Given the description of an element on the screen output the (x, y) to click on. 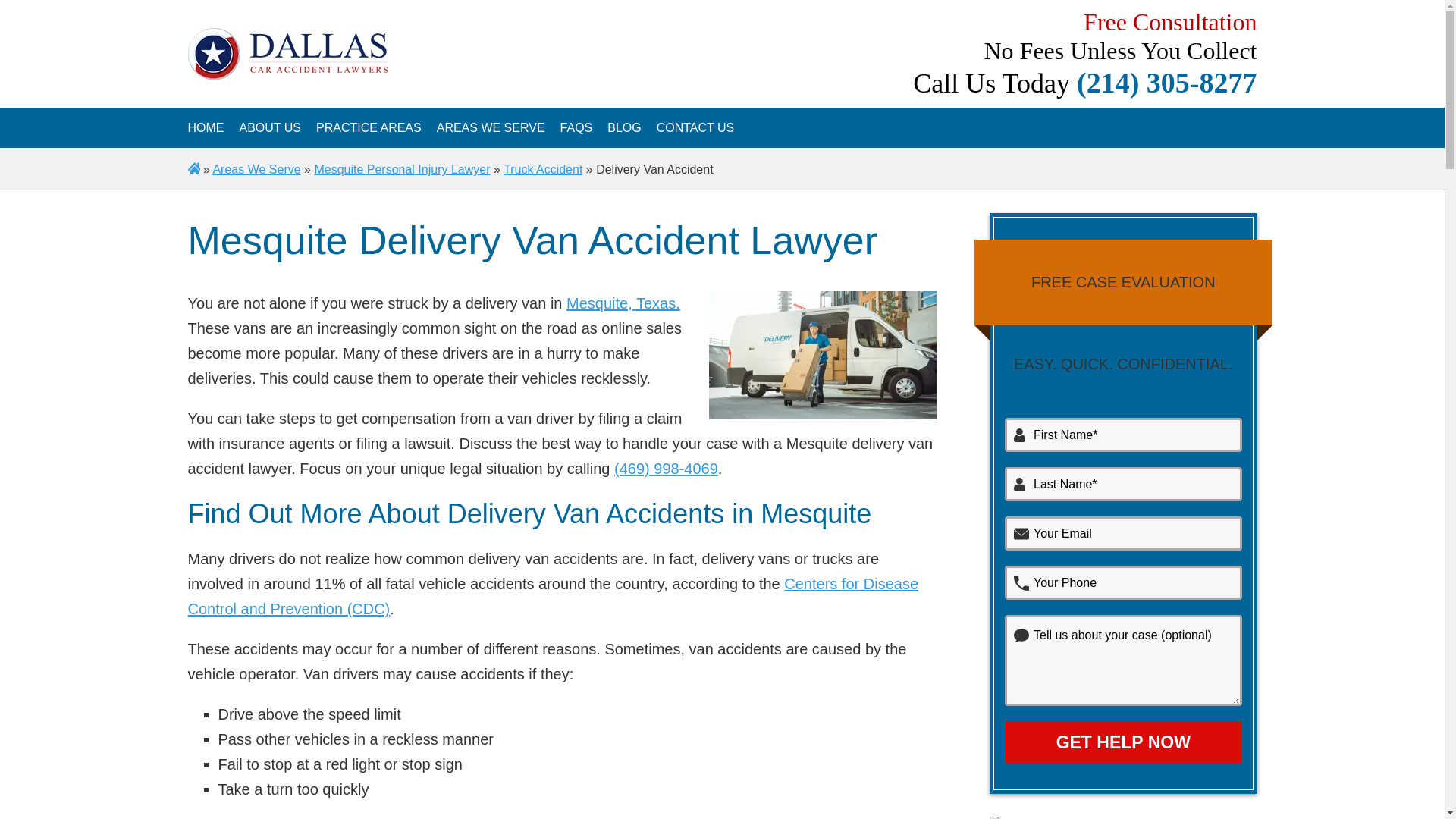
Dallas Car Accident Lawyers (205, 127)
PRACTICE AREAS (368, 127)
Get Help Now (1122, 742)
AREAS WE SERVE (490, 127)
ABOUT US (270, 127)
Dallas Car Accident Legal Representation  (270, 127)
HOME (205, 127)
